Given the description of an element on the screen output the (x, y) to click on. 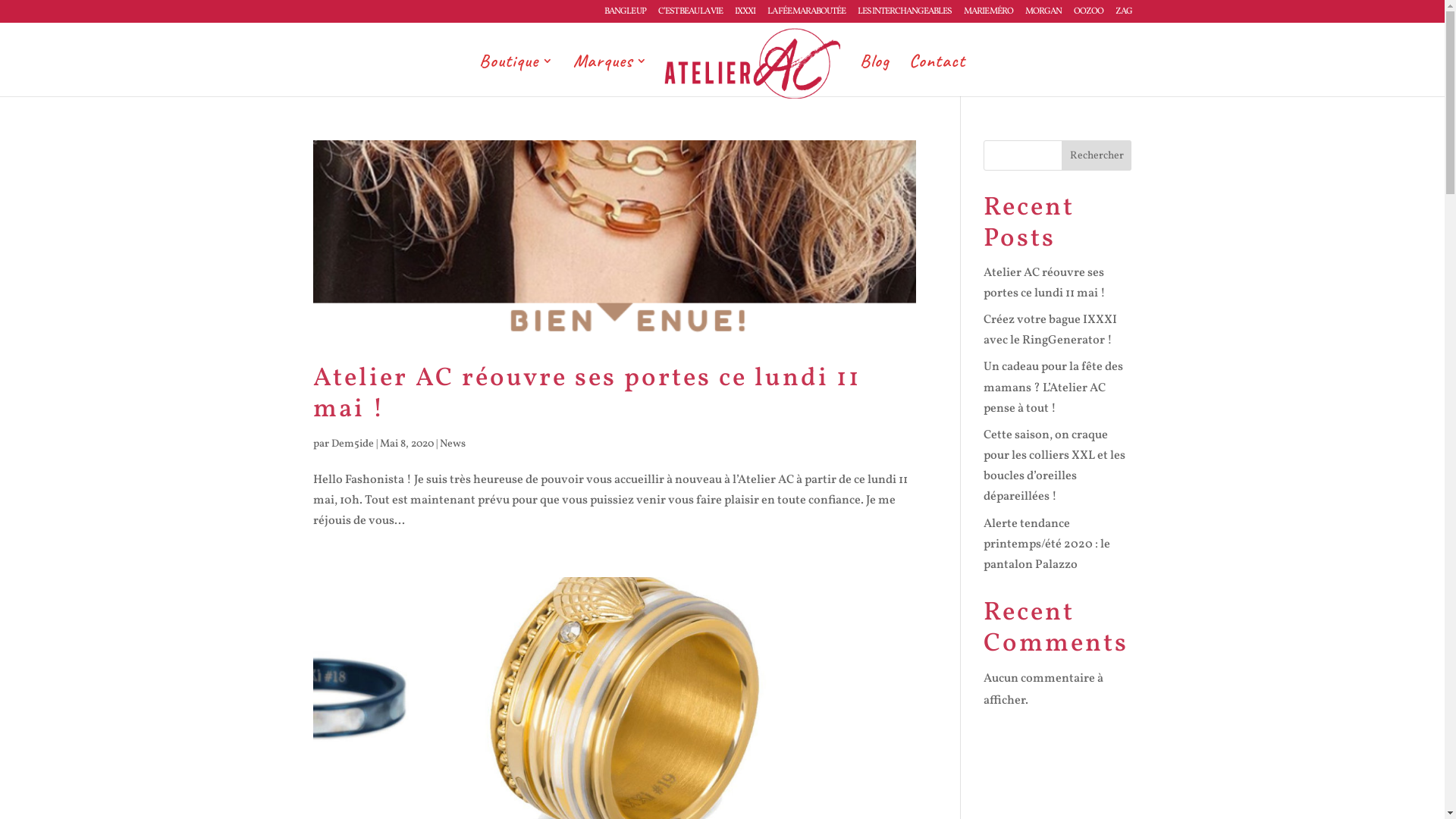
News Element type: text (452, 443)
Blog Element type: text (874, 75)
OOZOO Element type: text (1088, 14)
ZAG Element type: text (1122, 14)
Boutique Element type: text (516, 75)
Contact Element type: text (937, 75)
Marques Element type: text (610, 75)
BANGLE UP Element type: text (624, 14)
MORGAN Element type: text (1043, 14)
LES INTERCHANGEABLES Element type: text (903, 14)
IXXXI Element type: text (744, 14)
Dem5ide Element type: text (351, 443)
Rechercher Element type: text (1096, 155)
